Given the description of an element on the screen output the (x, y) to click on. 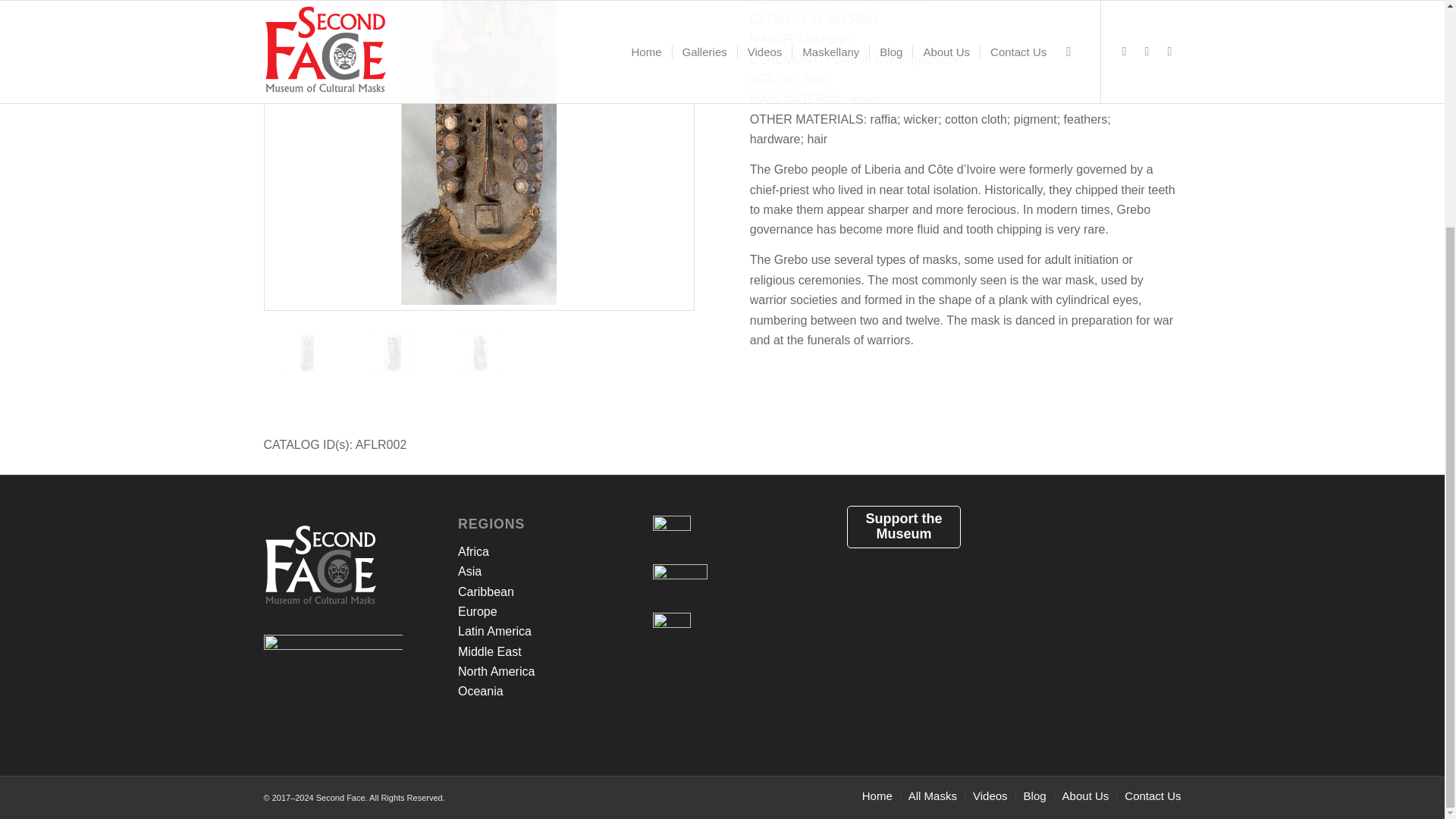
Asia (469, 571)
Africa - Liberia - Grebo Plank 1c (478, 353)
Africa (473, 551)
Africa - Liberia - Grebo Plank 1b (414, 374)
Africa - Liberia - Grebo Plank 1a (328, 374)
Europe (477, 611)
Latin America (494, 631)
Africa - Liberia - Grebo Plank 1c (500, 374)
Caribbean (485, 591)
Africa - Liberia - Grebo Plank 1a (478, 152)
Middle East (489, 651)
Africa - Liberia - Grebo Plank 1a (306, 353)
Africa - Liberia - Grebo Plank 1b (392, 353)
North America (496, 671)
